Given the description of an element on the screen output the (x, y) to click on. 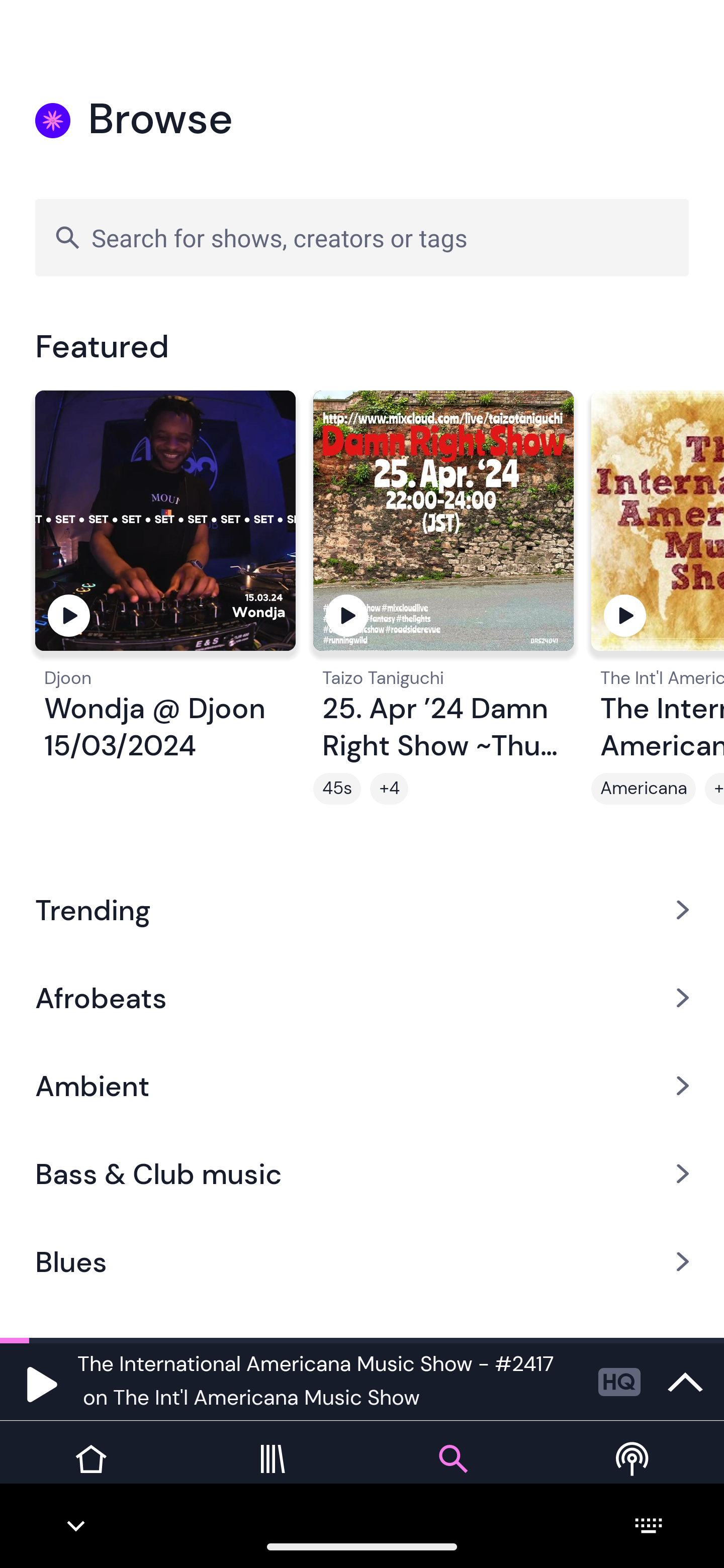
Search for shows, creators or tags (361, 237)
45s (337, 788)
Americana (643, 788)
Trending (361, 909)
Afrobeats (361, 997)
Ambient (361, 1085)
Bass & Club music (361, 1174)
Blues (361, 1262)
Home tab (90, 1473)
Library tab (271, 1473)
Browse tab (452, 1473)
Live tab (633, 1473)
